Given the description of an element on the screen output the (x, y) to click on. 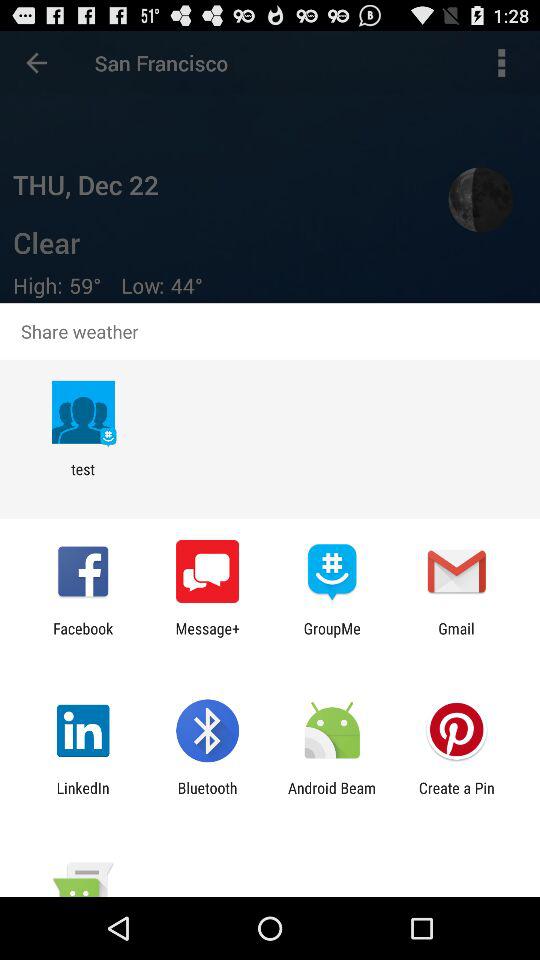
choose the message+ app (207, 637)
